Given the description of an element on the screen output the (x, y) to click on. 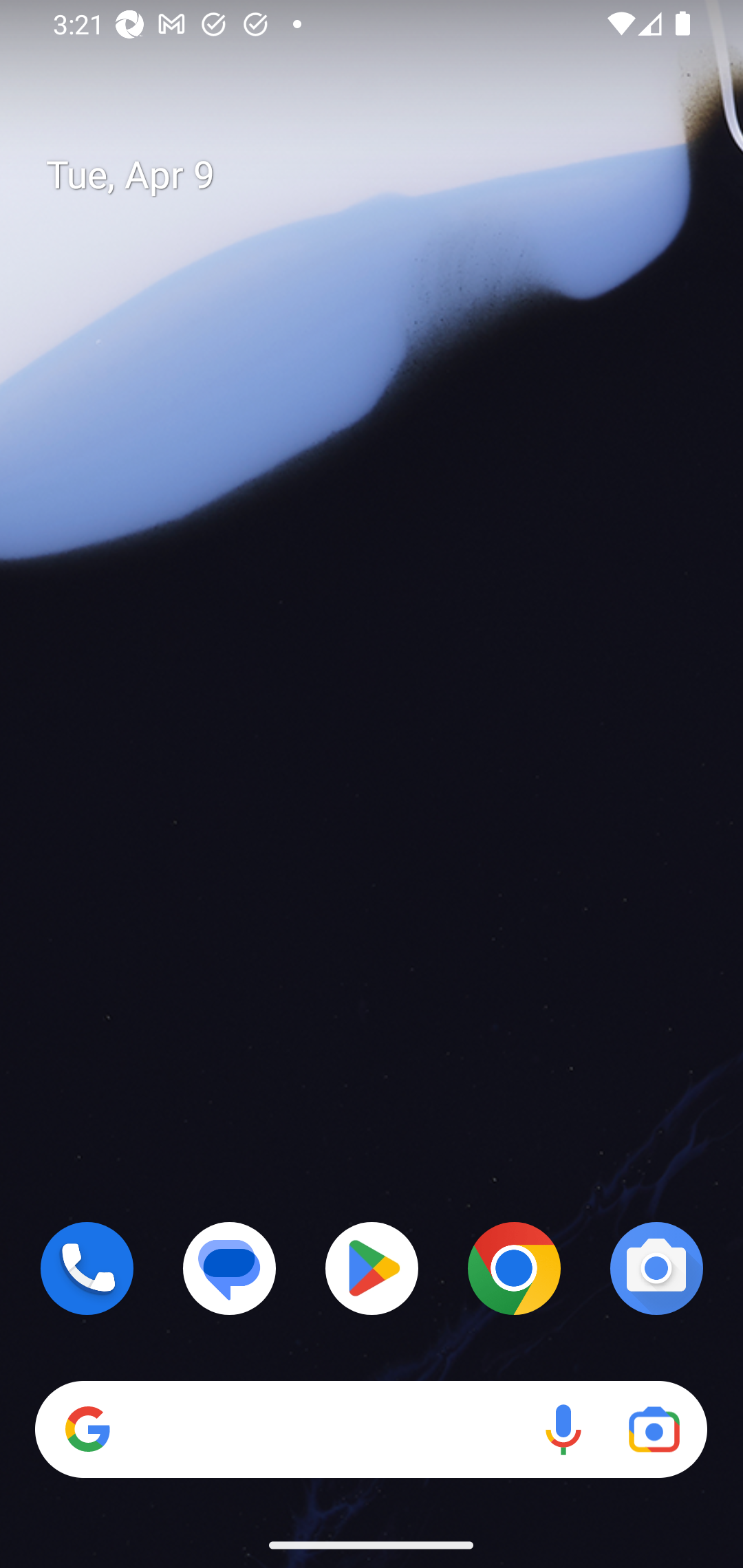
Tue, Apr 9 (386, 175)
Phone (86, 1268)
Messages (229, 1268)
Play Store (371, 1268)
Chrome (513, 1268)
Camera (656, 1268)
Search Voice search Google Lens (370, 1429)
Voice search (562, 1429)
Google Lens (653, 1429)
